Given the description of an element on the screen output the (x, y) to click on. 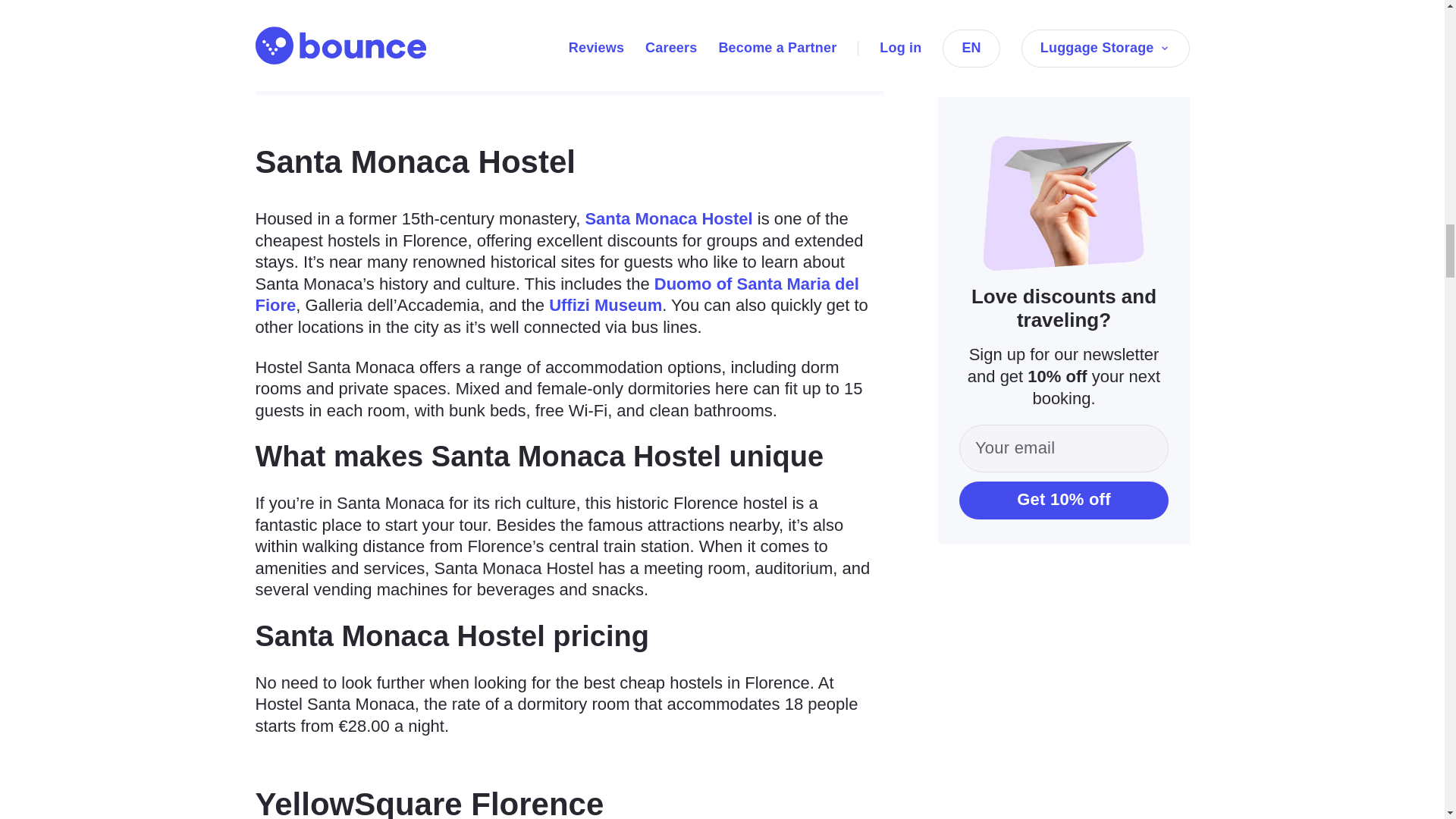
Duomo of Santa Maria del Fiore (556, 294)
Uffizi Museum (605, 304)
Santa Monaca Hostel (668, 218)
